Given the description of an element on the screen output the (x, y) to click on. 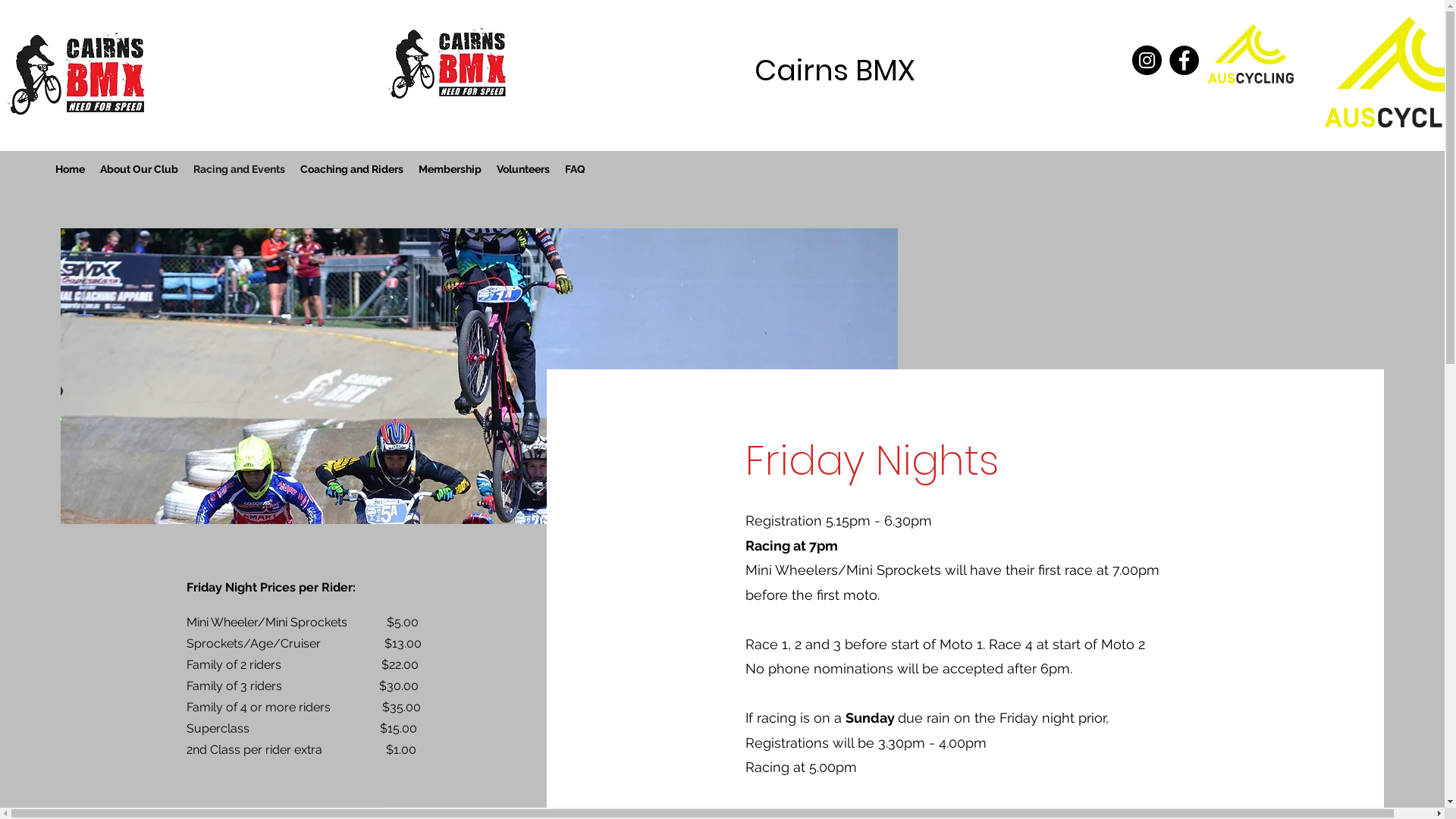
Racing and Events Element type: text (238, 168)
FAQ Element type: text (575, 168)
Home Element type: text (69, 168)
Cairns BMX logo.jpeg Element type: hover (448, 61)
Coaching and Riders Element type: text (351, 168)
Volunteers Element type: text (523, 168)
Membership Element type: text (450, 168)
About Our Club Element type: text (138, 168)
